Given the description of an element on the screen output the (x, y) to click on. 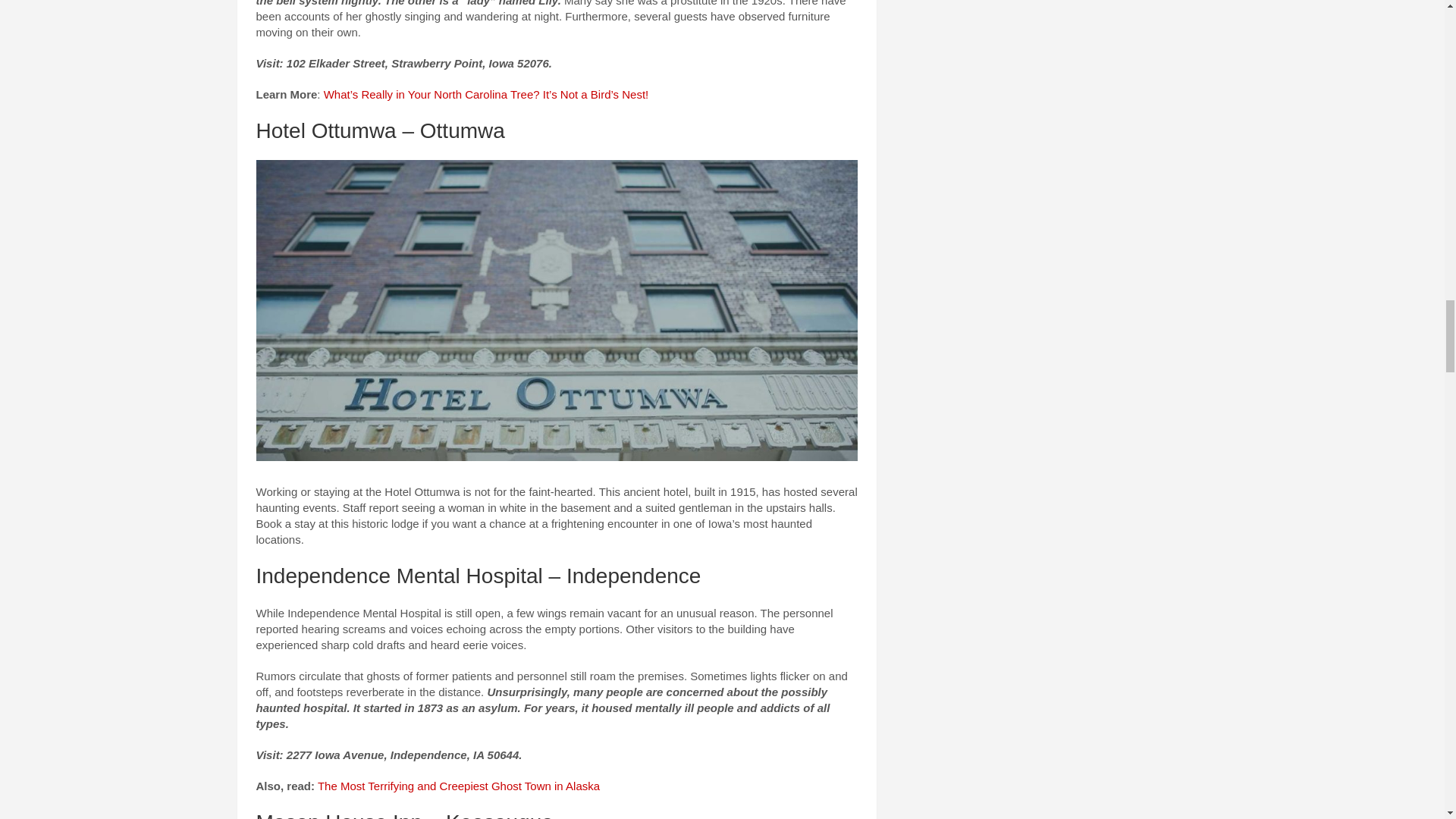
The Most Terrifying and Creepiest Ghost Town in Alaska (458, 785)
